Given the description of an element on the screen output the (x, y) to click on. 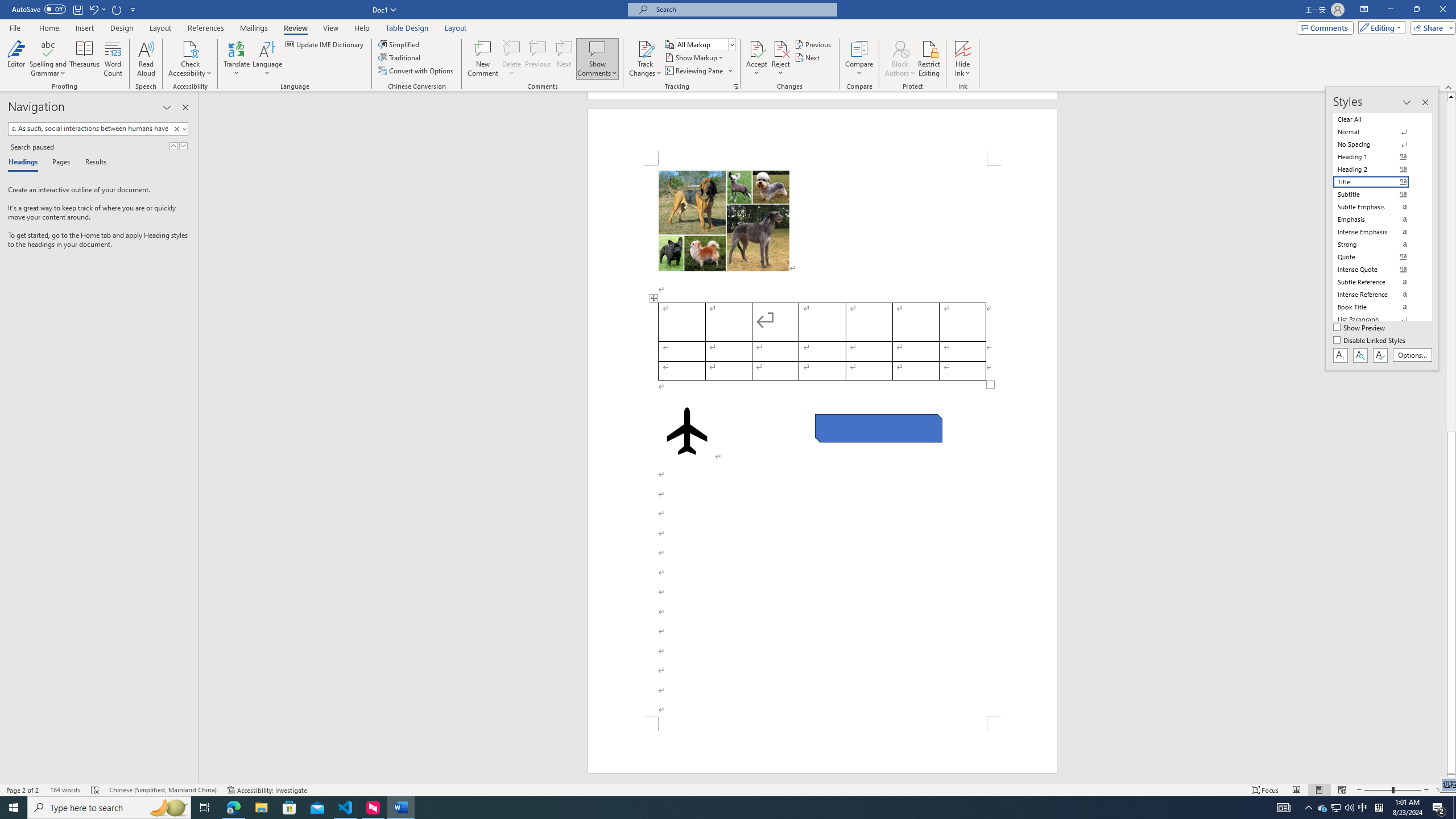
New Comment (482, 58)
Editor (16, 58)
Spelling and Grammar Check Errors (94, 790)
Open (731, 44)
Insert (83, 28)
Subtle Emphasis (1377, 206)
Show Preview (1360, 328)
Previous (813, 44)
Zoom Out (1377, 790)
Title (1377, 182)
System (6, 6)
Comments (1325, 27)
Delete (511, 48)
Zoom 104% (1443, 790)
